Given the description of an element on the screen output the (x, y) to click on. 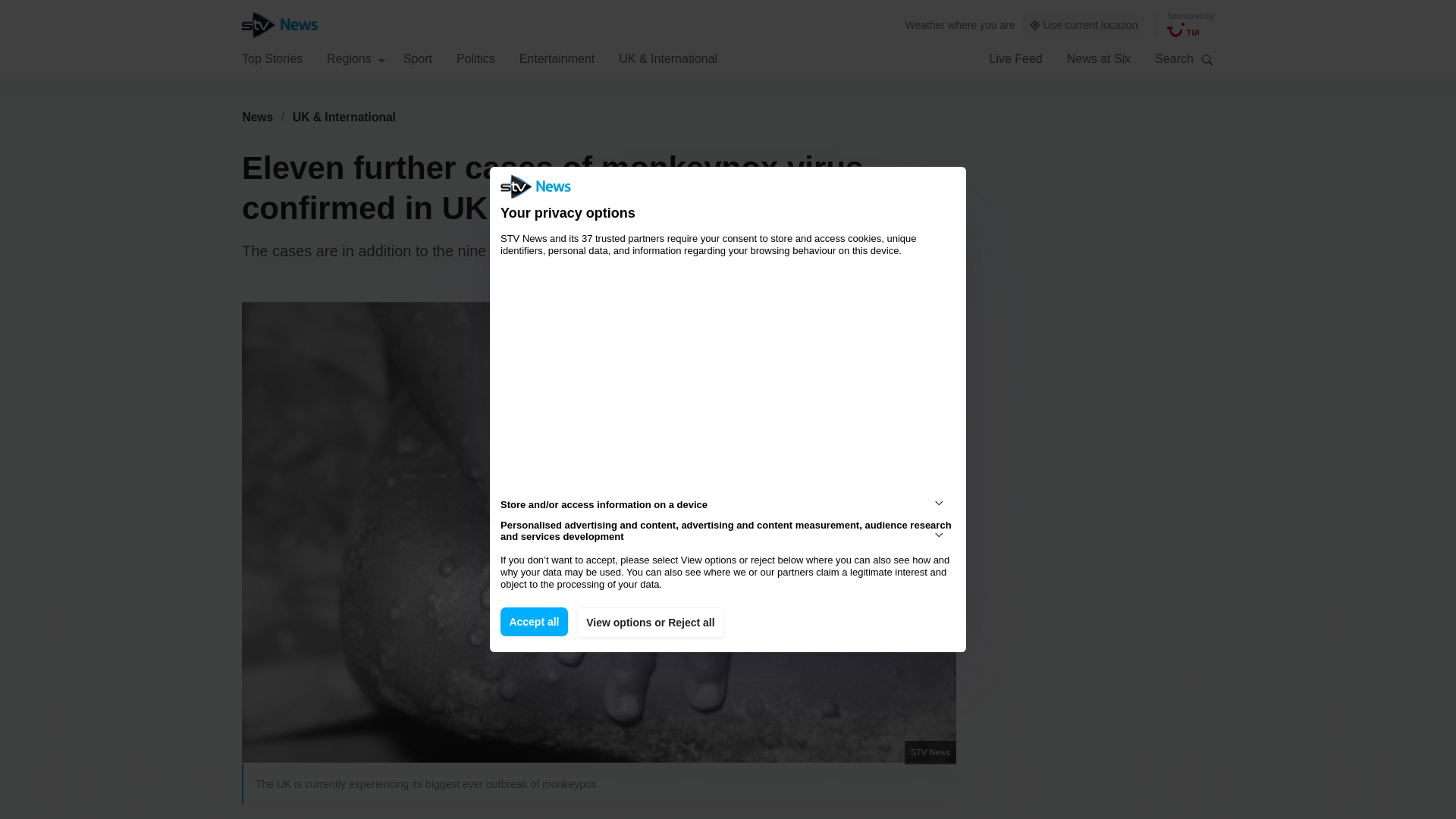
Top Stories (271, 57)
Search (1206, 59)
Live Feed (1015, 57)
Politics (476, 57)
News at Six (1099, 57)
Weather (924, 24)
Regions (355, 57)
Use current location (1083, 25)
News (257, 116)
Entertainment (557, 57)
